Given the description of an element on the screen output the (x, y) to click on. 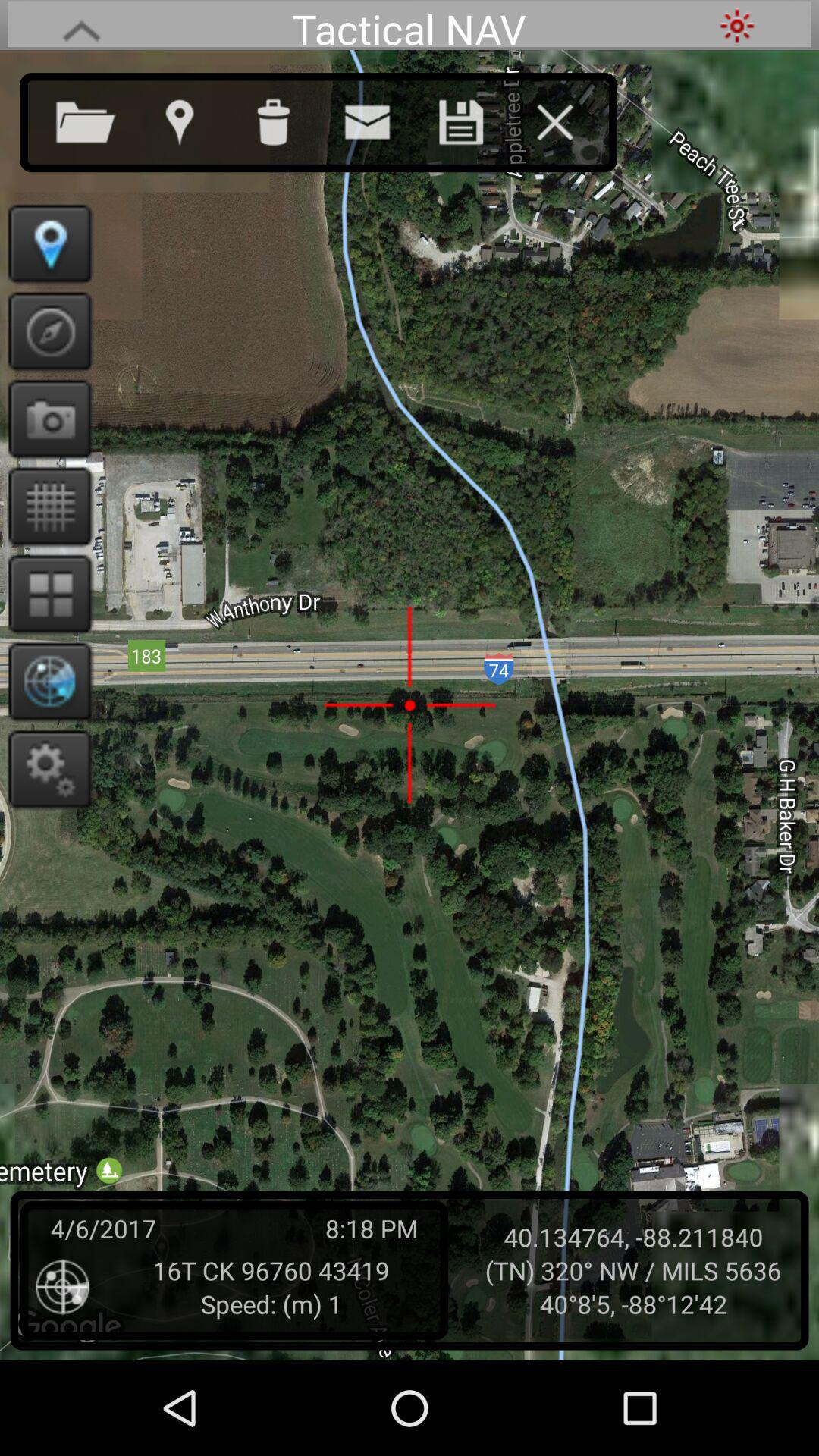
open new file (100, 119)
